Given the description of an element on the screen output the (x, y) to click on. 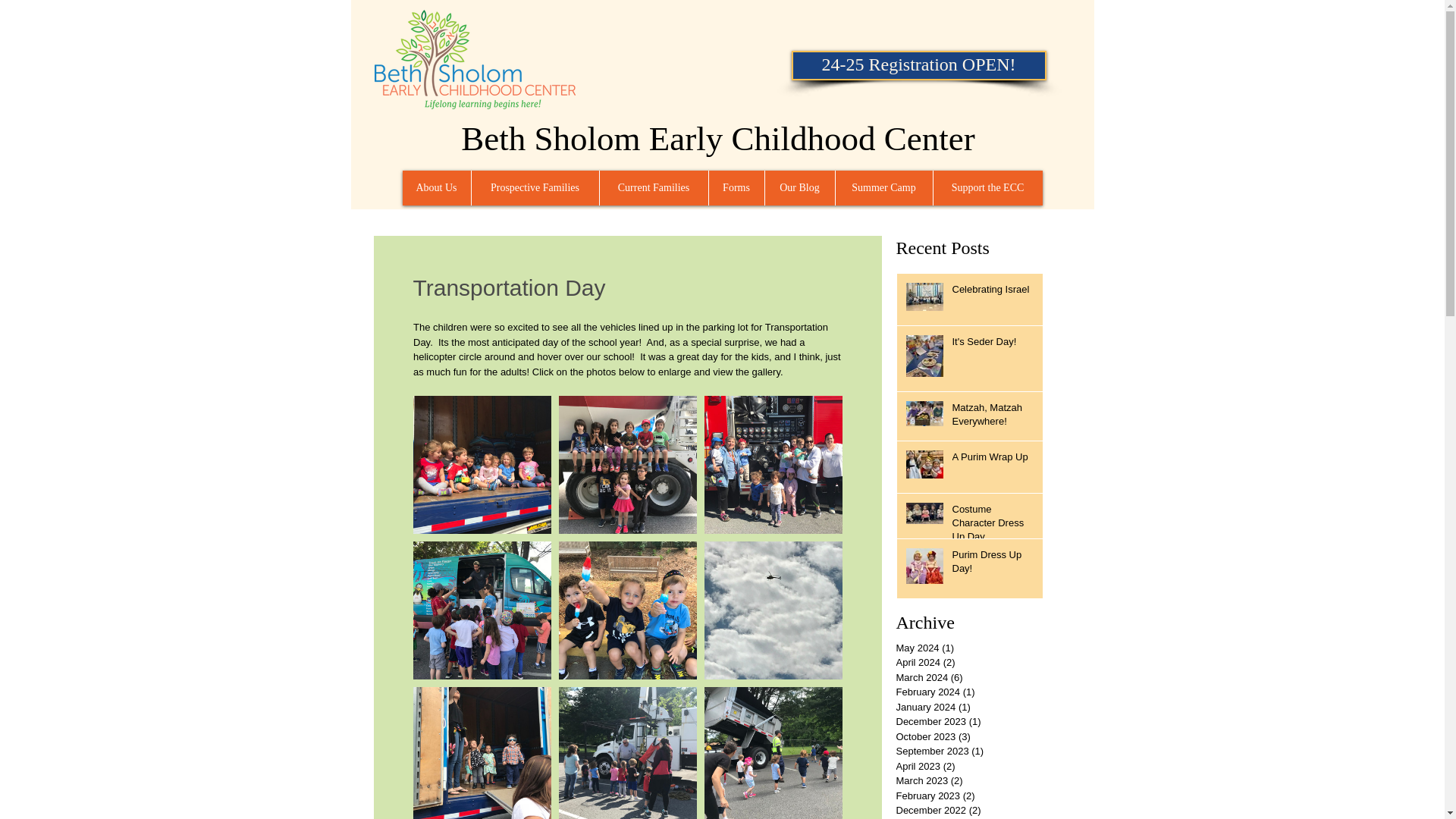
Matzah, Matzah Everywhere! (992, 417)
It's Seder Day! (992, 344)
Summer Camp (882, 186)
Celebrating Israel (992, 292)
Costume Character Dress Up Day (992, 526)
Forms (735, 186)
A Purim Wrap Up (992, 460)
24-25 Registration OPEN! (919, 65)
Our Blog (799, 186)
Purim Dress Up Day! (992, 564)
